Given the description of an element on the screen output the (x, y) to click on. 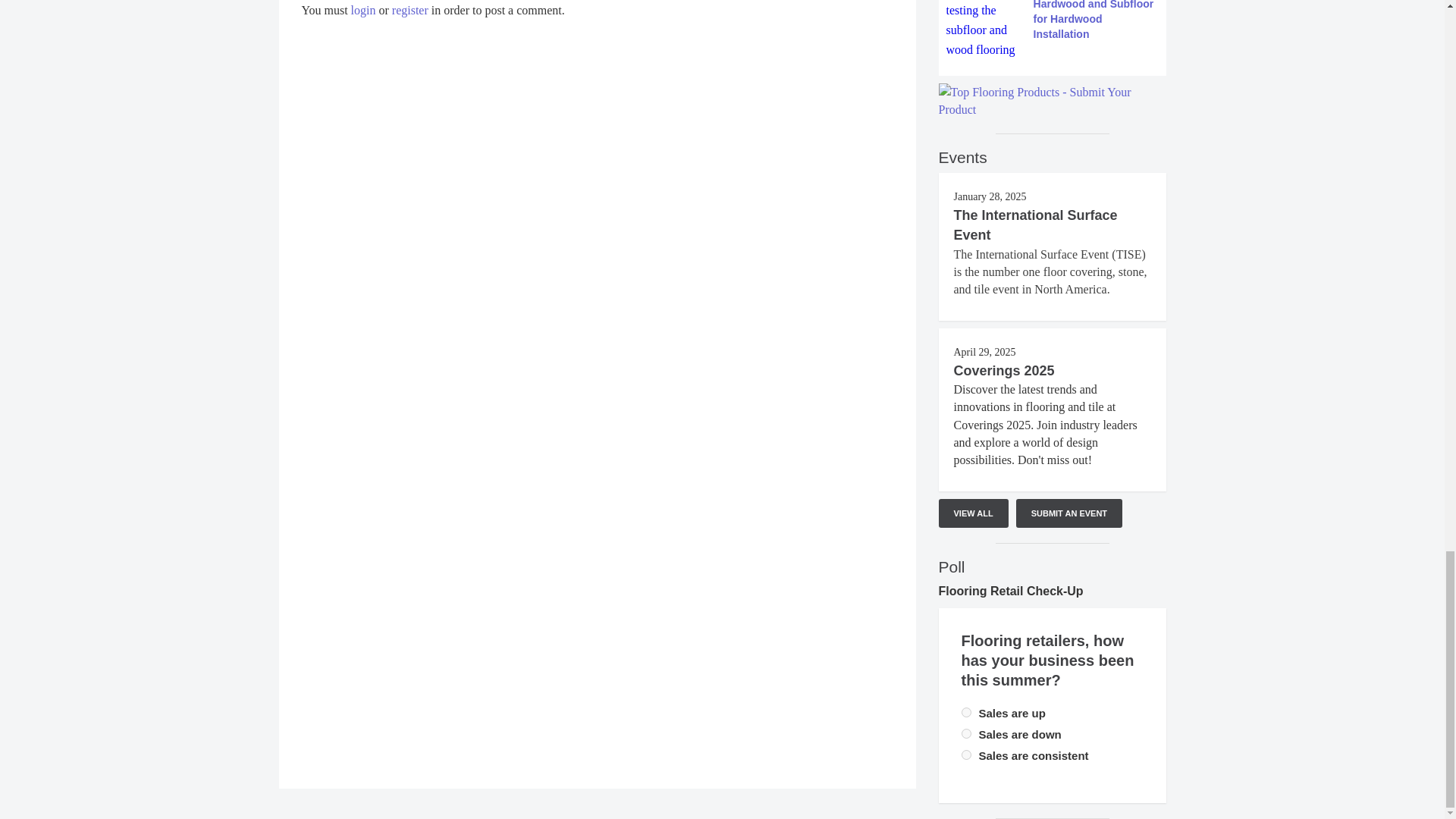
342 (965, 733)
Coverings 2025 (1003, 370)
344 (965, 712)
The International Surface Event (1035, 225)
343 (965, 755)
